Given the description of an element on the screen output the (x, y) to click on. 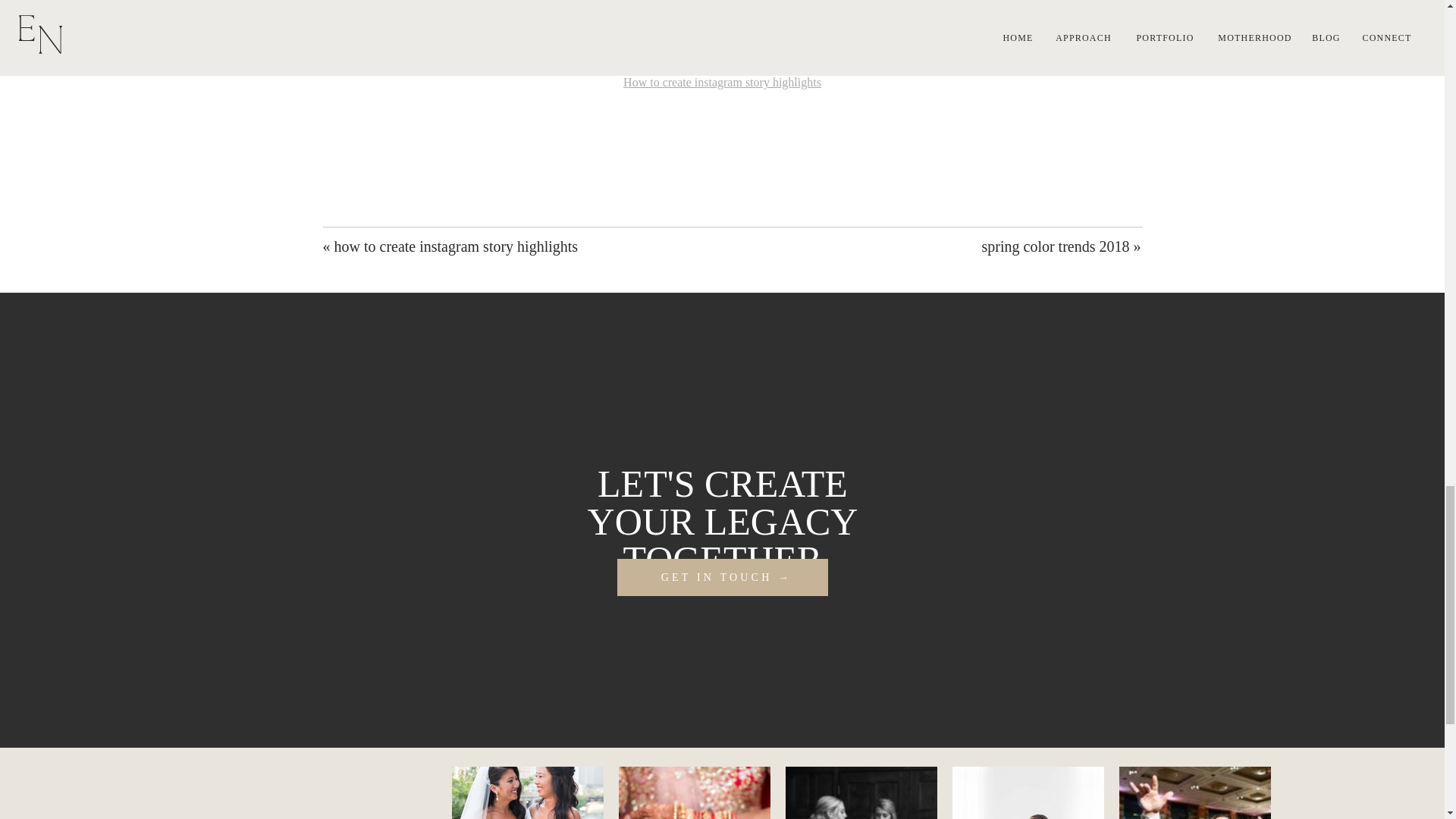
ENP-1408 (694, 792)
spring color trends 2018 (1055, 246)
LET'S CREATE YOUR LEGACY TOGETHER (721, 506)
Elizabeth-Nord-Photography-Nashville-Photographer-40 (1027, 792)
how to create instagram story highlights (455, 246)
Hall-Humphrey-Wedding-133 (861, 792)
How to create instagram story highlights (722, 82)
